Given the description of an element on the screen output the (x, y) to click on. 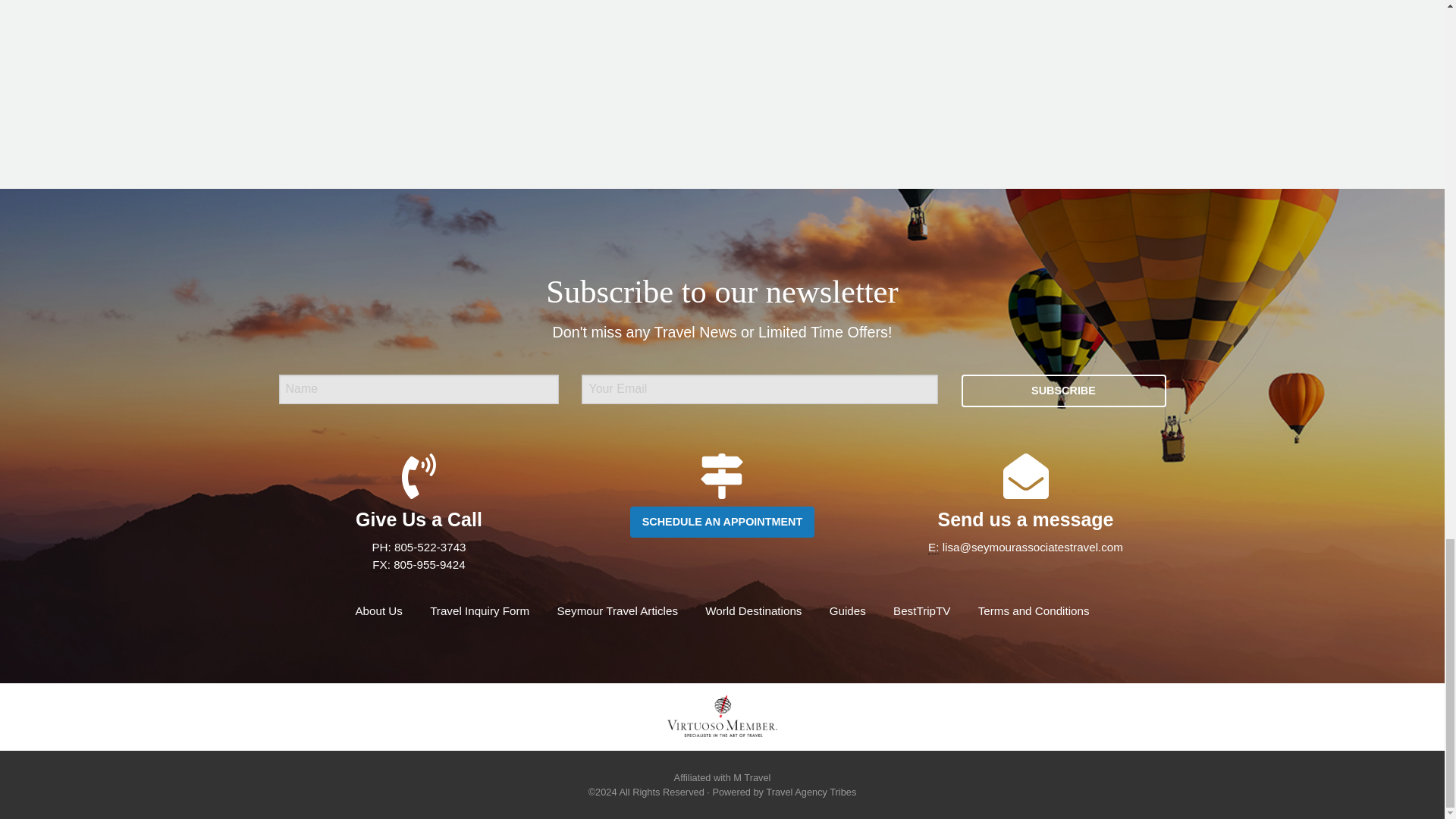
Fax (381, 564)
Phone (380, 547)
Virtuoso Member (721, 716)
Subscribe (1063, 390)
